Given the description of an element on the screen output the (x, y) to click on. 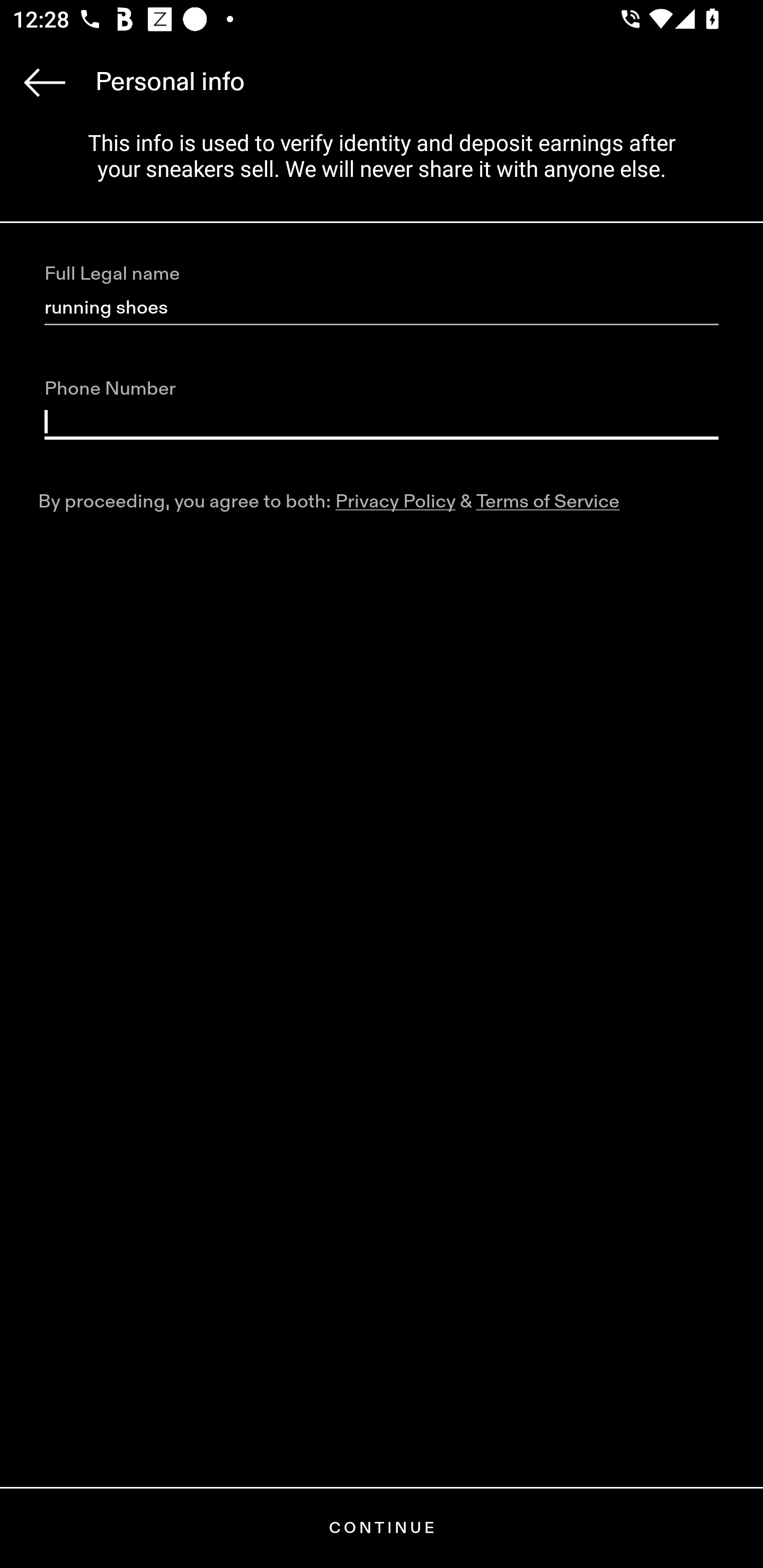
Navigate up (44, 82)
running shoes (381, 308)
Phone Number (381, 422)
CONTINUE (381, 1528)
